Given the description of an element on the screen output the (x, y) to click on. 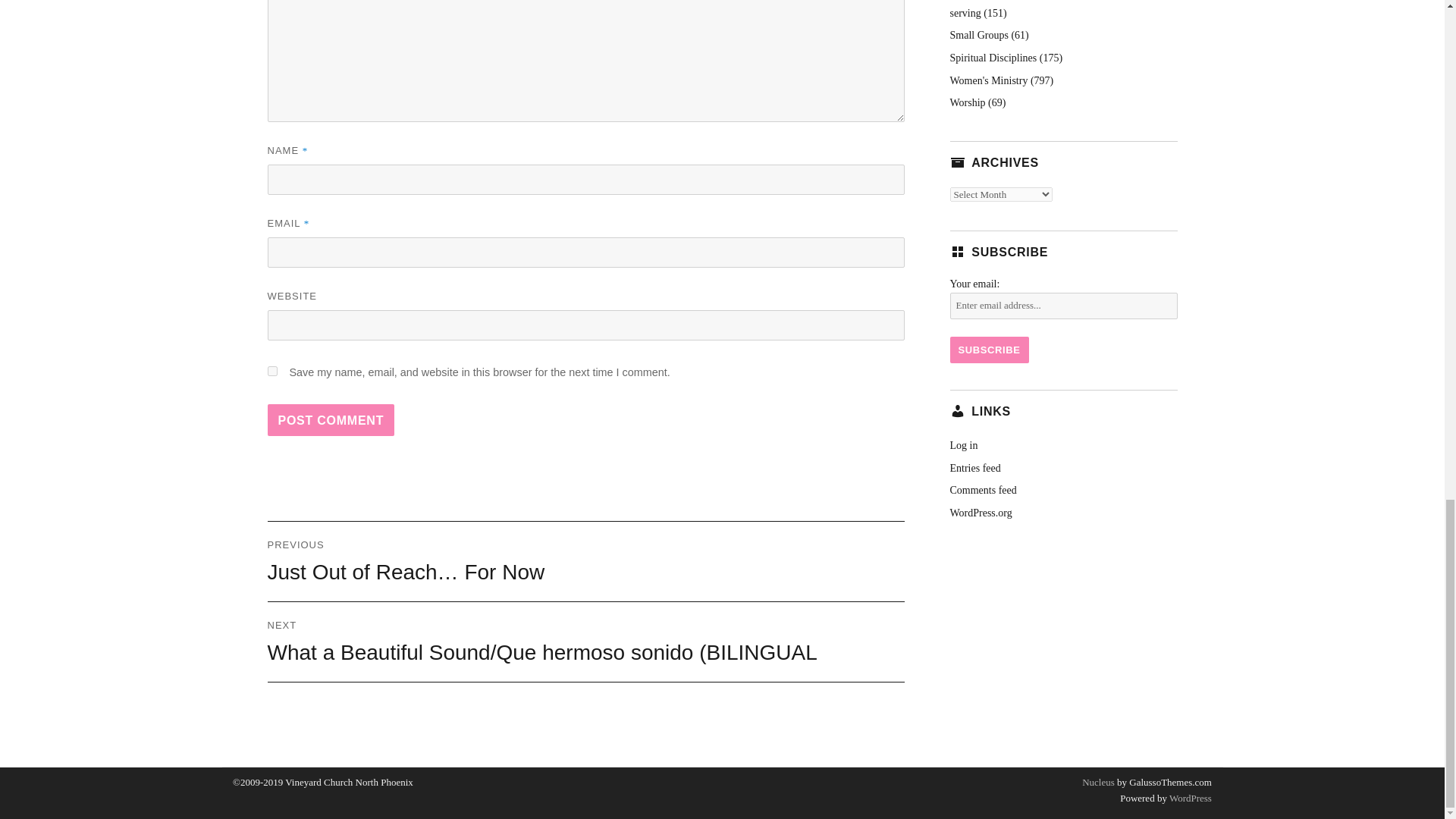
Semantic Personal Publishing Platform (1189, 797)
yes (271, 370)
Post Comment (330, 419)
Enter email address... (1062, 305)
Post Comment (330, 419)
Subscribe (988, 349)
